Given the description of an element on the screen output the (x, y) to click on. 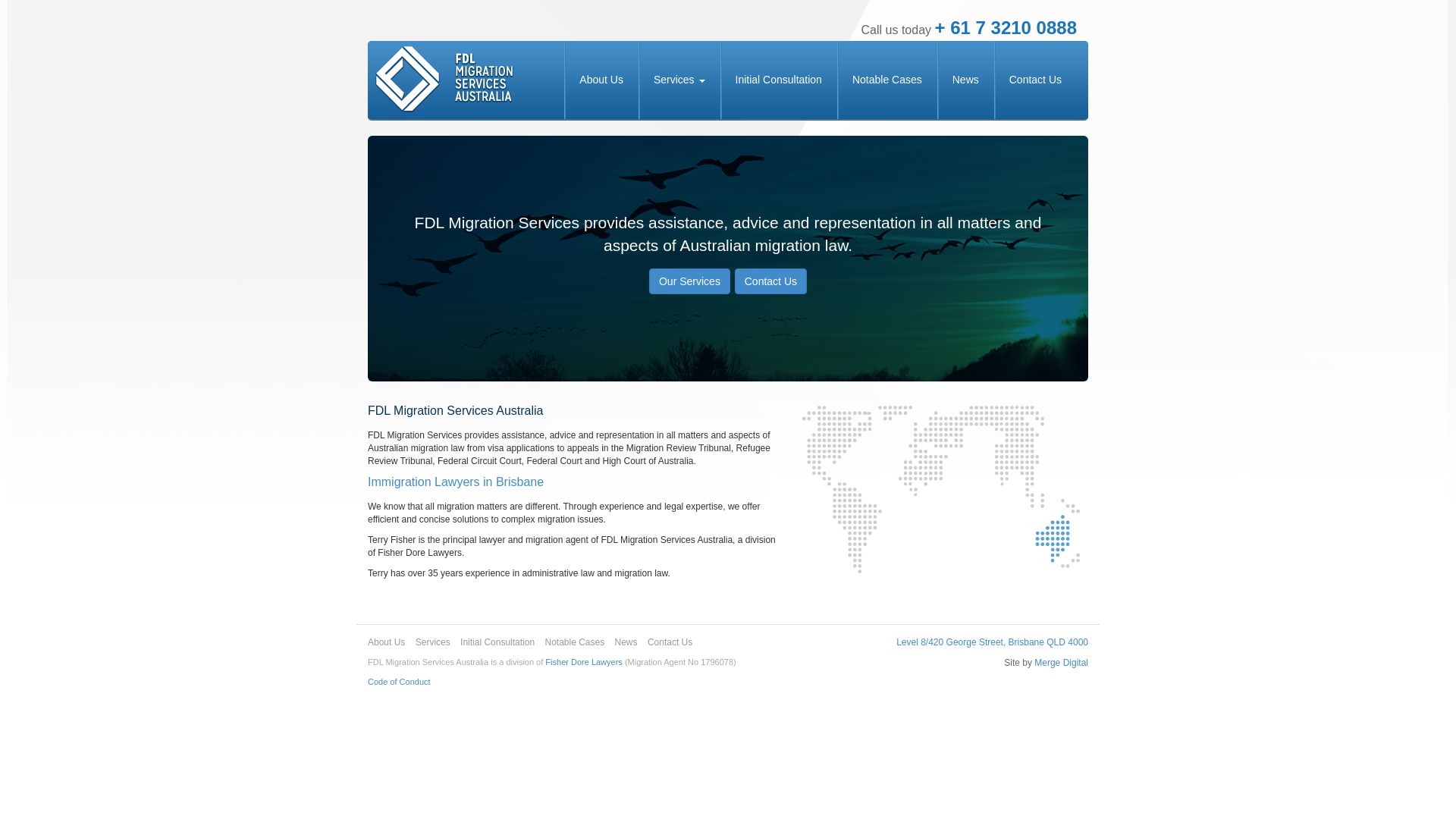
Fisher Dore Lawyers Element type: text (583, 661)
Level 8/420 George Street, Brisbane QLD 4000 Element type: text (992, 642)
Initial Consultation Element type: text (497, 642)
News Element type: text (965, 79)
News Element type: text (626, 642)
Contact Us Element type: text (669, 642)
Contact Us Element type: text (770, 281)
About Us Element type: text (601, 79)
Contact Us Element type: text (1035, 79)
Immigration Lawyers in Brisbane Element type: text (455, 481)
Our Services Element type: text (689, 281)
About Us Element type: text (385, 642)
Notable Cases Element type: text (887, 79)
Initial Consultation Element type: text (778, 79)
Notable Cases Element type: text (574, 642)
Merge Digital Element type: text (1061, 662)
Services Element type: text (679, 79)
Services Element type: text (432, 642)
Code of Conduct Element type: text (398, 681)
